Given the description of an element on the screen output the (x, y) to click on. 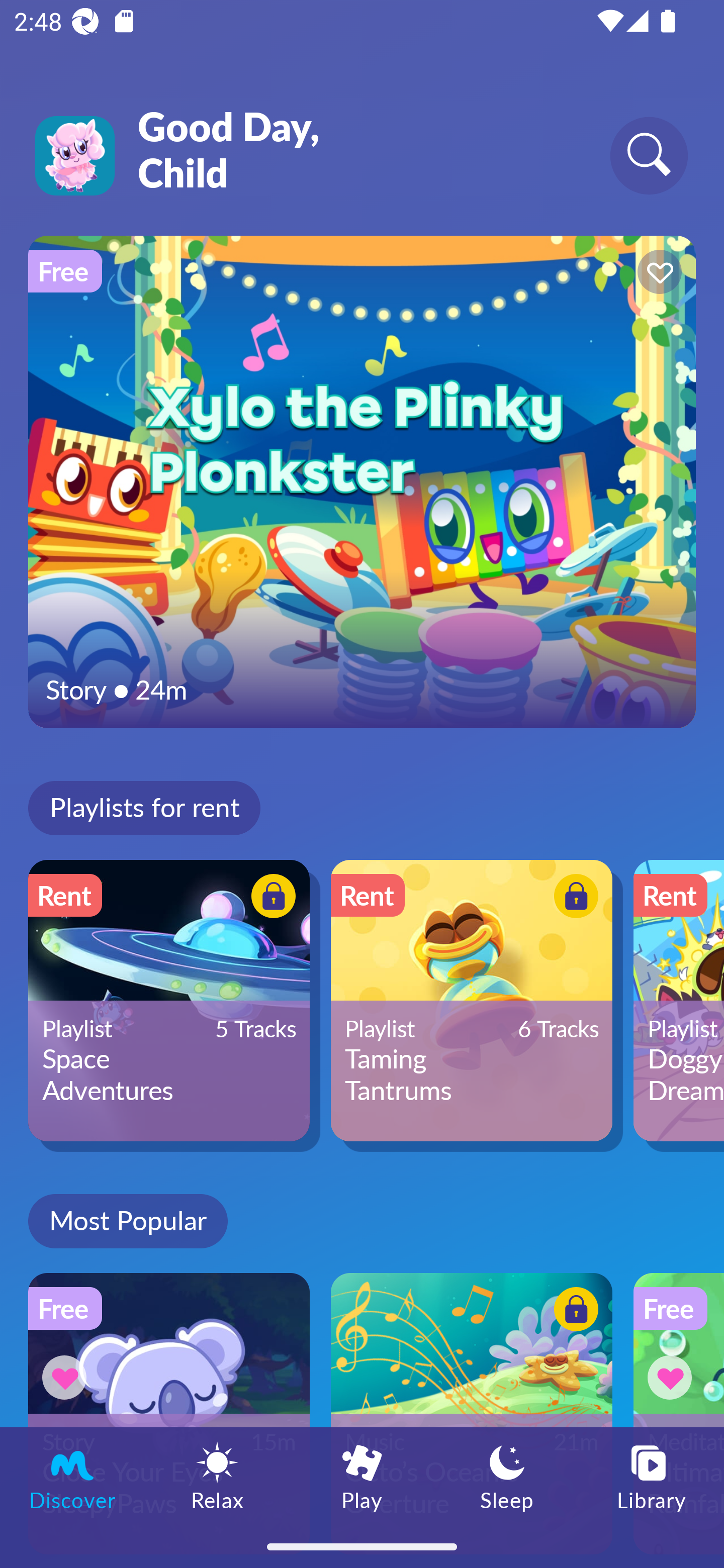
Search (648, 154)
Featured Content Free Button Story ● 24m (361, 481)
Button (656, 274)
Button (269, 898)
Button (573, 898)
Button (573, 1312)
Button (67, 1377)
Button (672, 1377)
Relax (216, 1475)
Play (361, 1475)
Sleep (506, 1475)
Library (651, 1475)
